Given the description of an element on the screen output the (x, y) to click on. 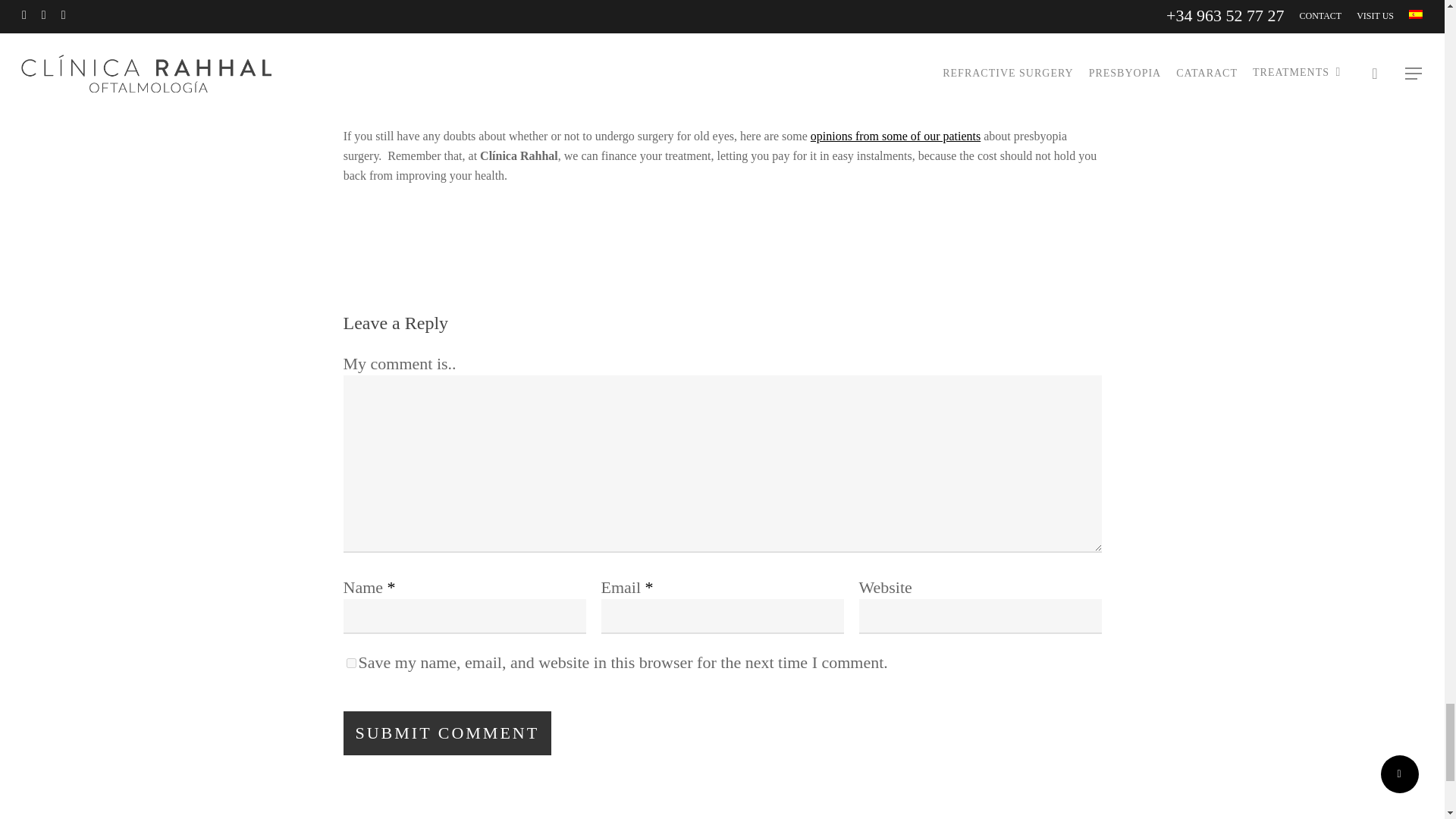
Submit Comment (446, 733)
yes (350, 663)
